Given the description of an element on the screen output the (x, y) to click on. 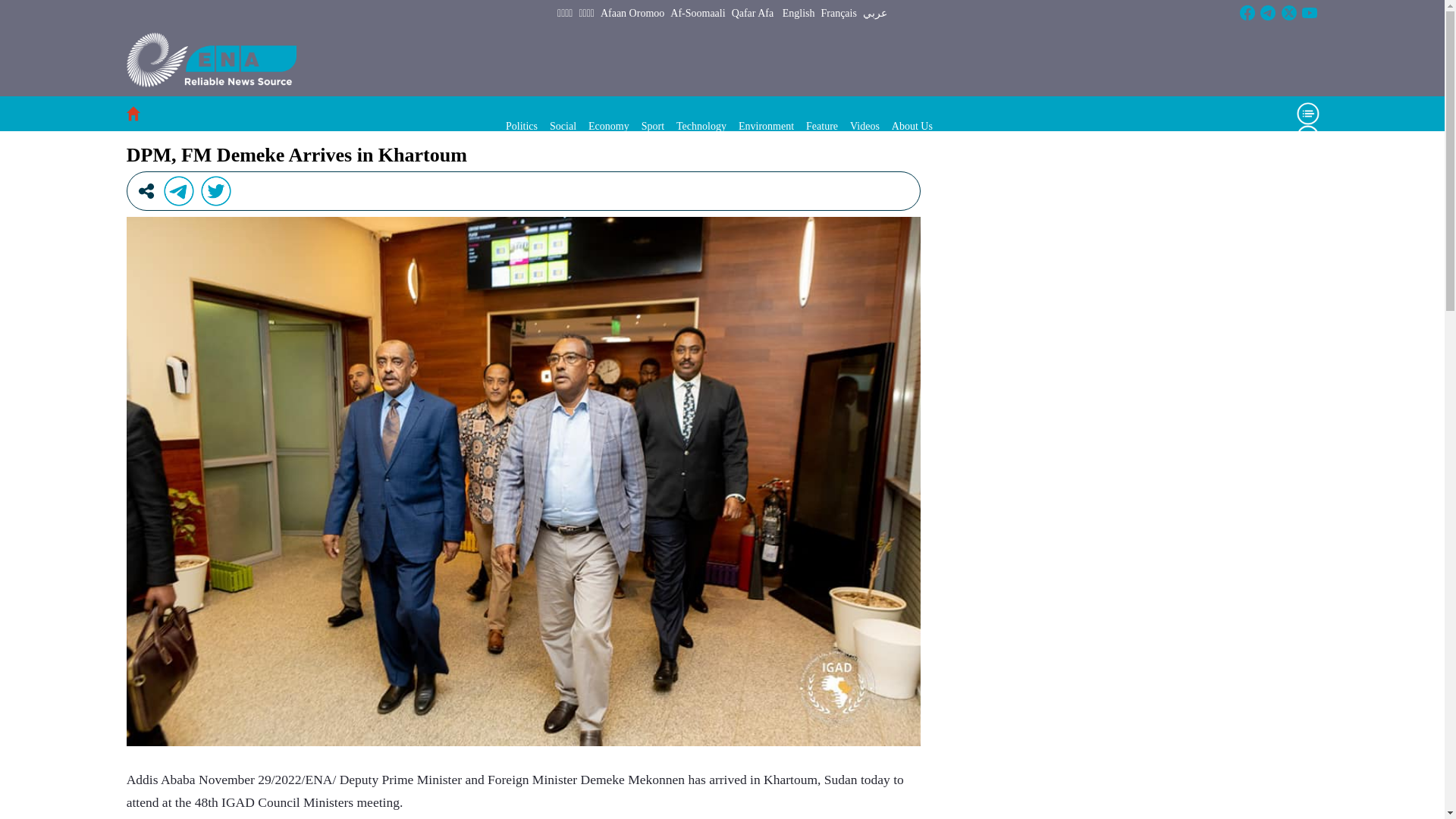
About Us (912, 125)
Qafar Afa (753, 13)
Skip to Content (5, 5)
Technology (700, 125)
Politics (521, 125)
Environment (765, 125)
Social (562, 125)
Videos (864, 125)
Afaan Oromoo (631, 13)
Feature (821, 125)
Economy (608, 125)
English (798, 13)
Sport (651, 125)
